Given the description of an element on the screen output the (x, y) to click on. 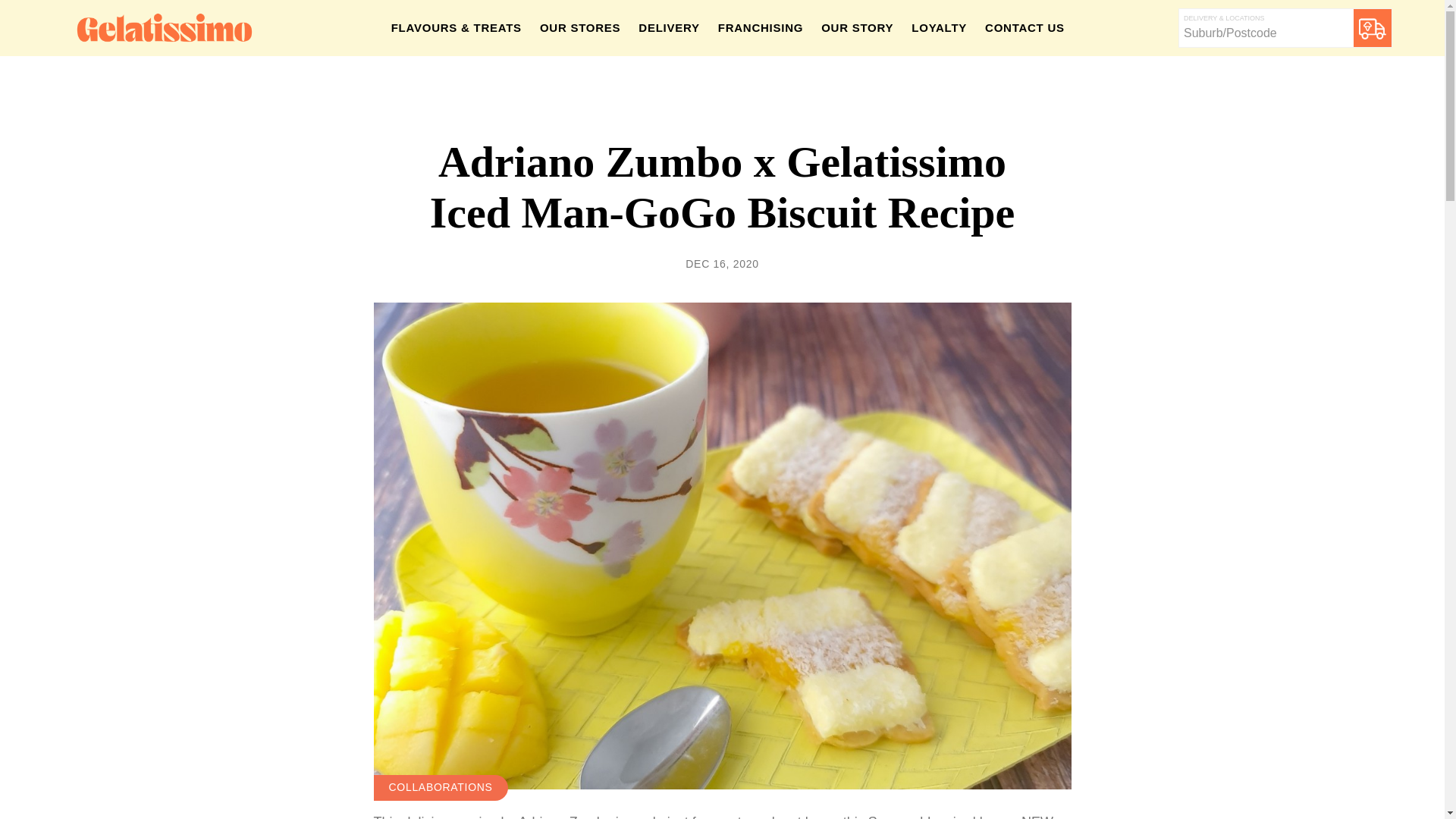
DELIVERY (667, 27)
Gelatissimo (164, 27)
CONTACT US (1024, 27)
OUR STORES (579, 27)
COLLABORATIONS (439, 787)
LOYALTY (938, 27)
FRANCHISING (760, 27)
OUR STORY (857, 27)
